Given the description of an element on the screen output the (x, y) to click on. 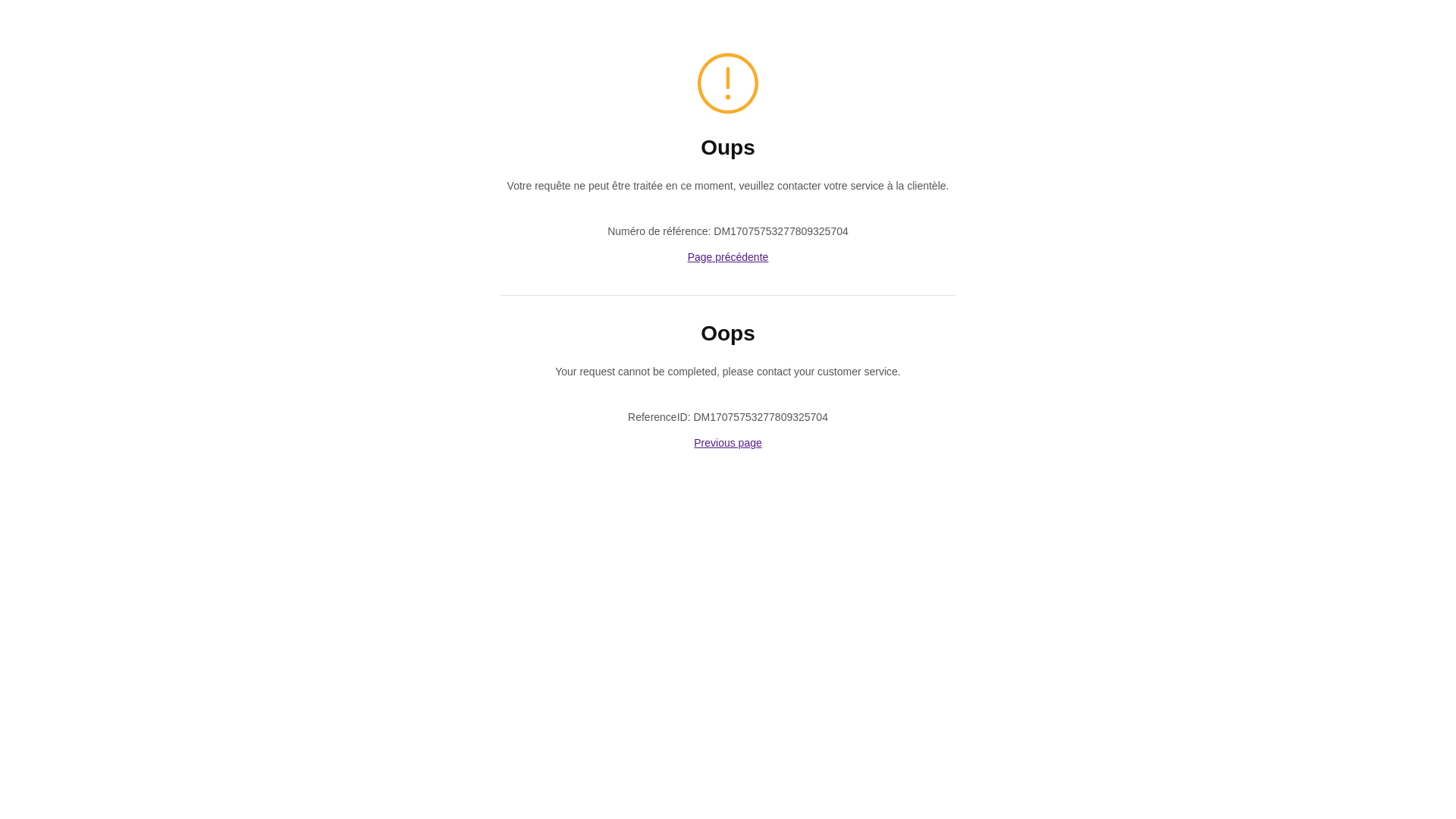
Previous page Element type: text (727, 442)
